Given the description of an element on the screen output the (x, y) to click on. 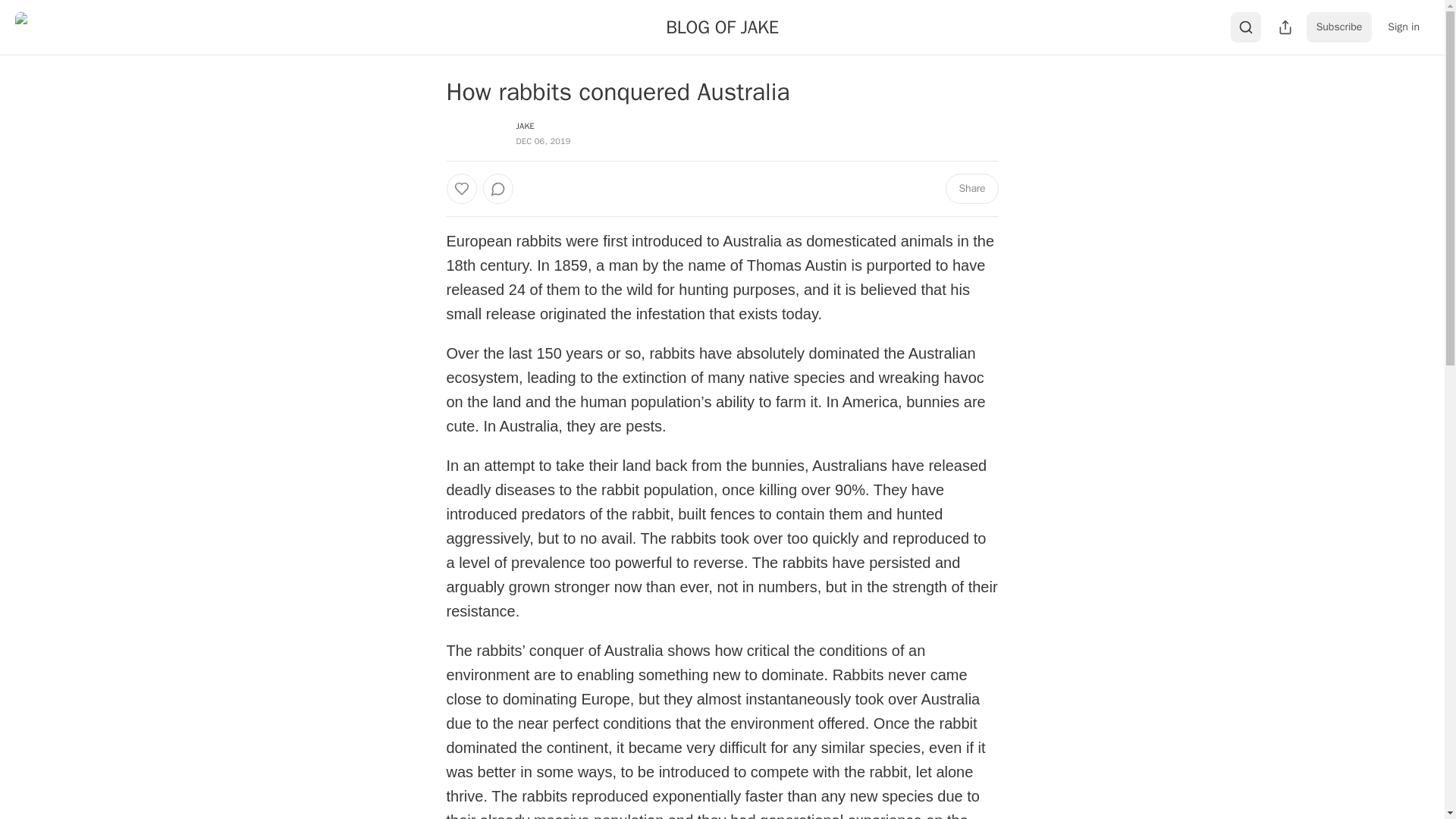
Subscribe (1339, 27)
Sign in (1403, 27)
Share (970, 188)
BLOG OF JAKE (721, 26)
JAKE (524, 125)
